Given the description of an element on the screen output the (x, y) to click on. 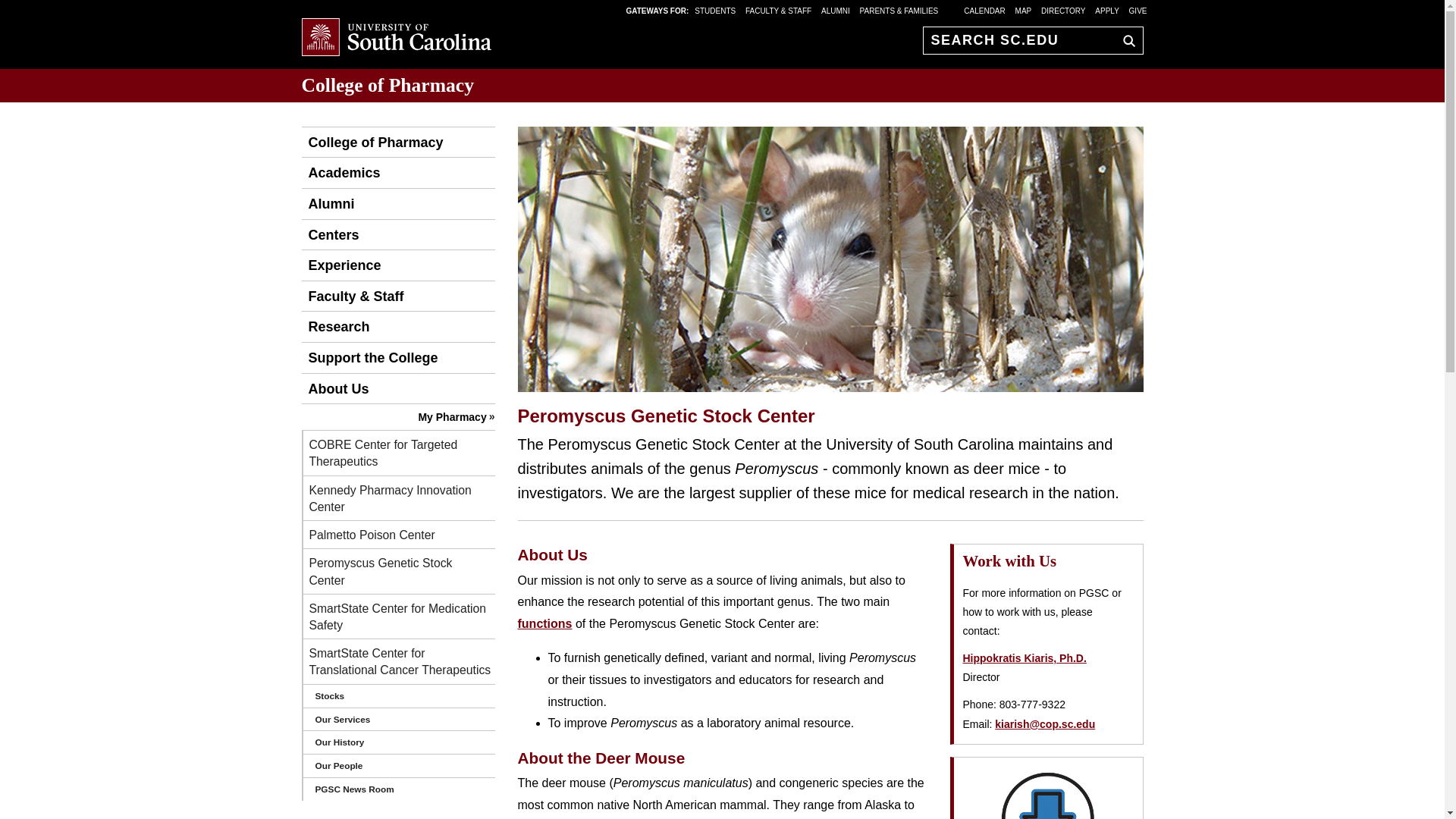
Our Faculty and Staff (352, 296)
GO (1125, 40)
CALENDAR (983, 9)
STUDENTS (716, 9)
MAP (1023, 9)
ALUMNI (835, 9)
APPLY (1106, 9)
DIRECTORY (1063, 9)
sc.edu Search (1125, 40)
GIVE (1138, 9)
OU Demo (372, 142)
GO (1125, 40)
University of South Carolina Home (396, 38)
College of Pharmacy (387, 85)
